Given the description of an element on the screen output the (x, y) to click on. 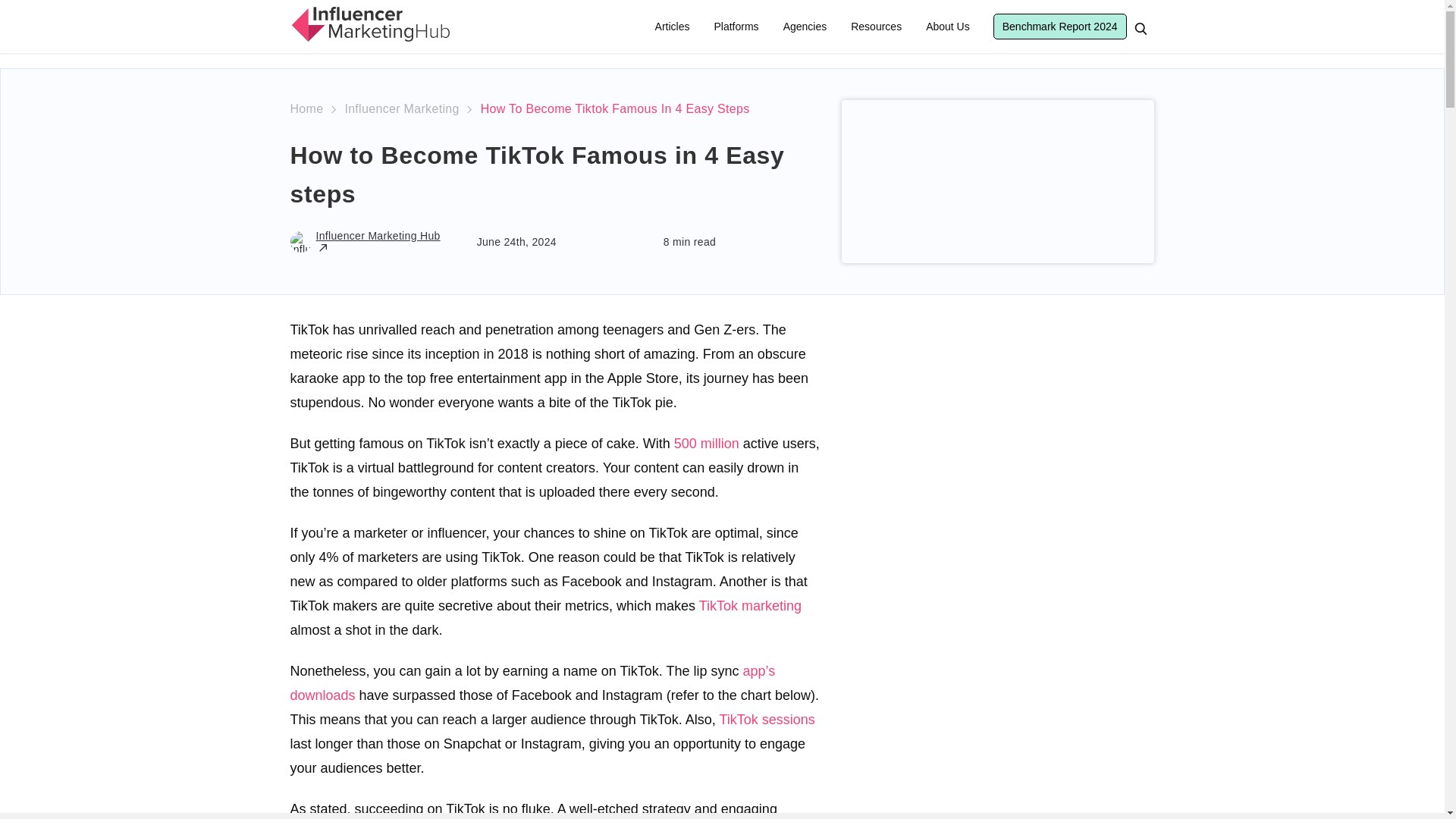
Resources (876, 26)
Articles (672, 26)
Platforms (736, 26)
Agencies (805, 26)
Influencer Marketing Hub (368, 24)
